Given the description of an element on the screen output the (x, y) to click on. 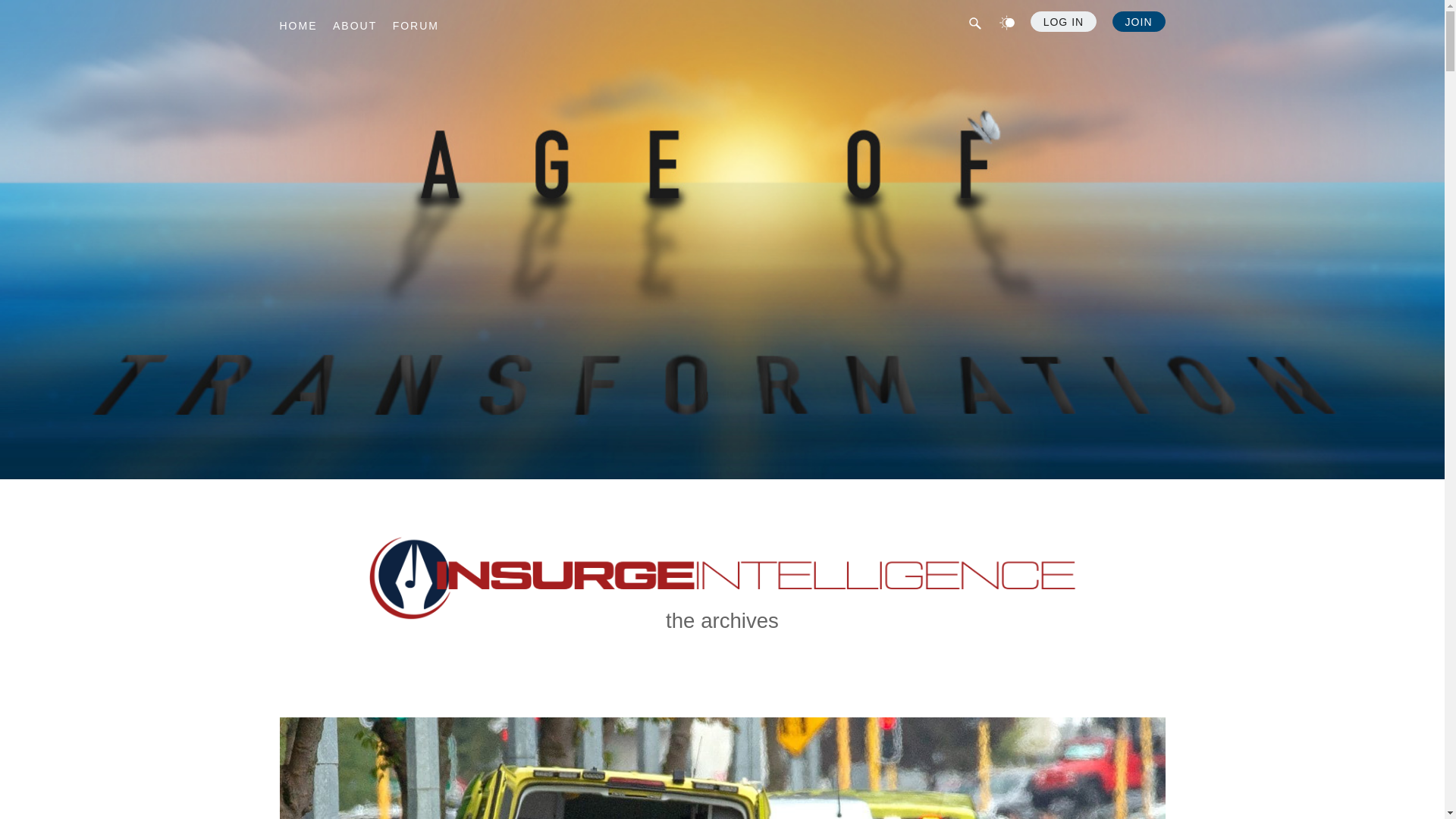
FORUM (416, 25)
HOME (298, 25)
ABOUT (355, 25)
LOG IN (1063, 21)
JOIN (1139, 21)
